Given the description of an element on the screen output the (x, y) to click on. 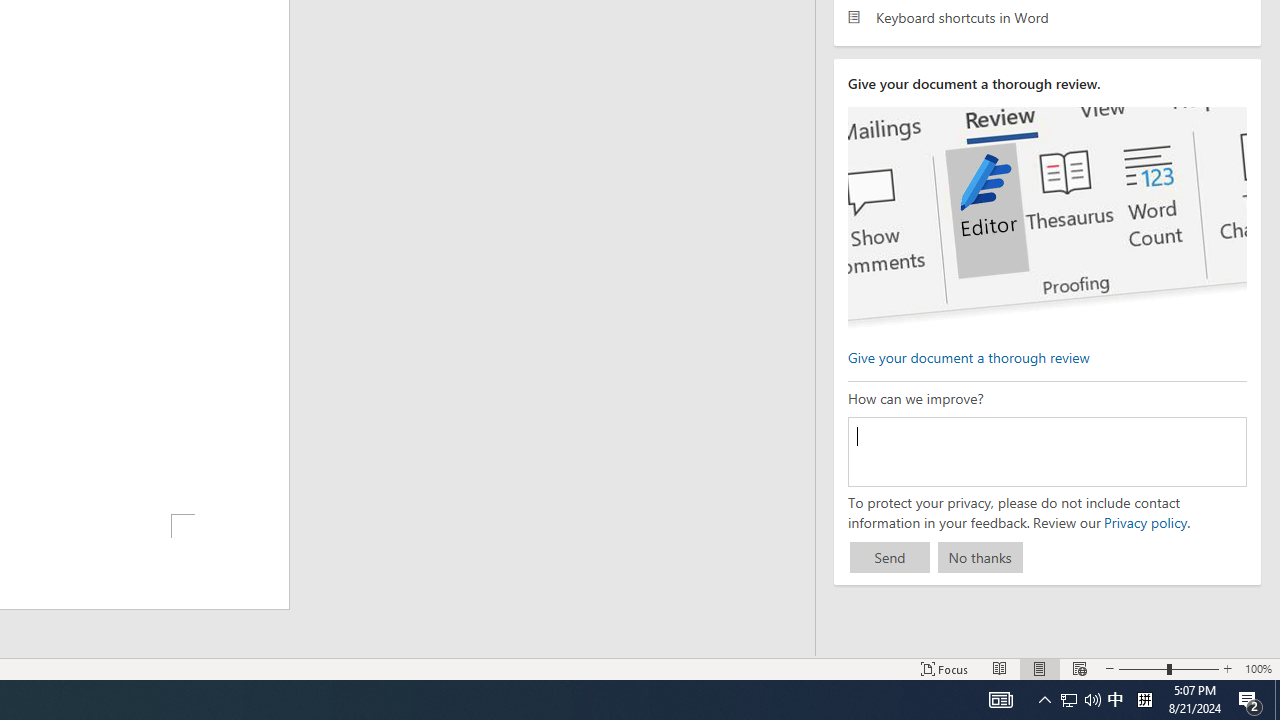
Zoom (1168, 668)
No thanks (980, 557)
Zoom Out (1142, 668)
Give your document a thorough review (968, 356)
Privacy policy (1144, 522)
How can we improve? (1046, 451)
Zoom In (1227, 668)
Read Mode (1000, 668)
Zoom 100% (1258, 668)
Keyboard shortcuts in Word (1047, 16)
Print Layout (1039, 668)
editor ui screenshot (1046, 218)
Web Layout (1079, 668)
Send (889, 557)
Focus  (944, 668)
